Given the description of an element on the screen output the (x, y) to click on. 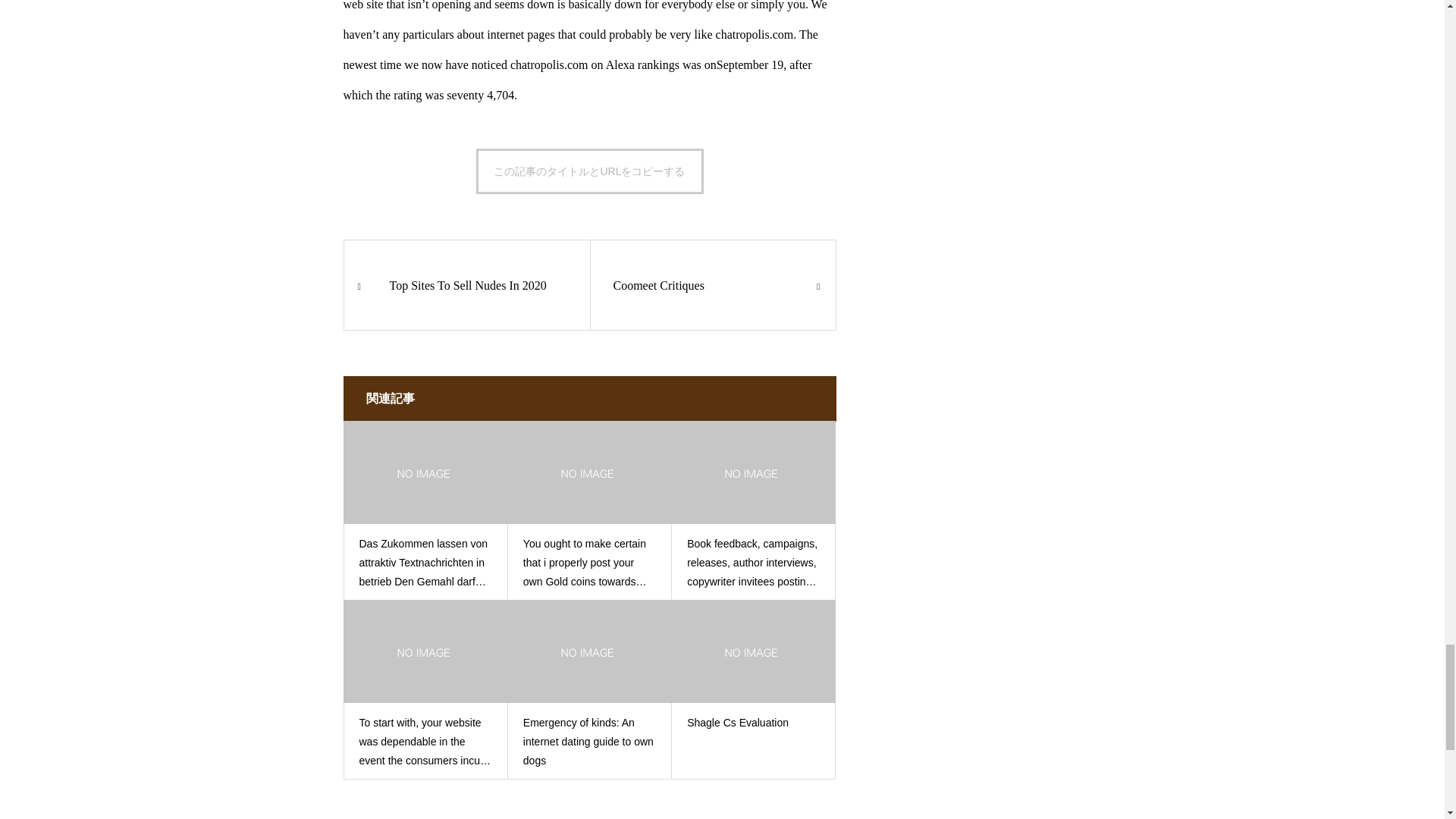
Emergency of kinds: An internet dating guide to own dogs (589, 742)
Coomeet Critiques (712, 284)
Shagle Cs Evaluation (753, 722)
Top Sites To Sell Nudes In 2020 (465, 284)
